Given the description of an element on the screen output the (x, y) to click on. 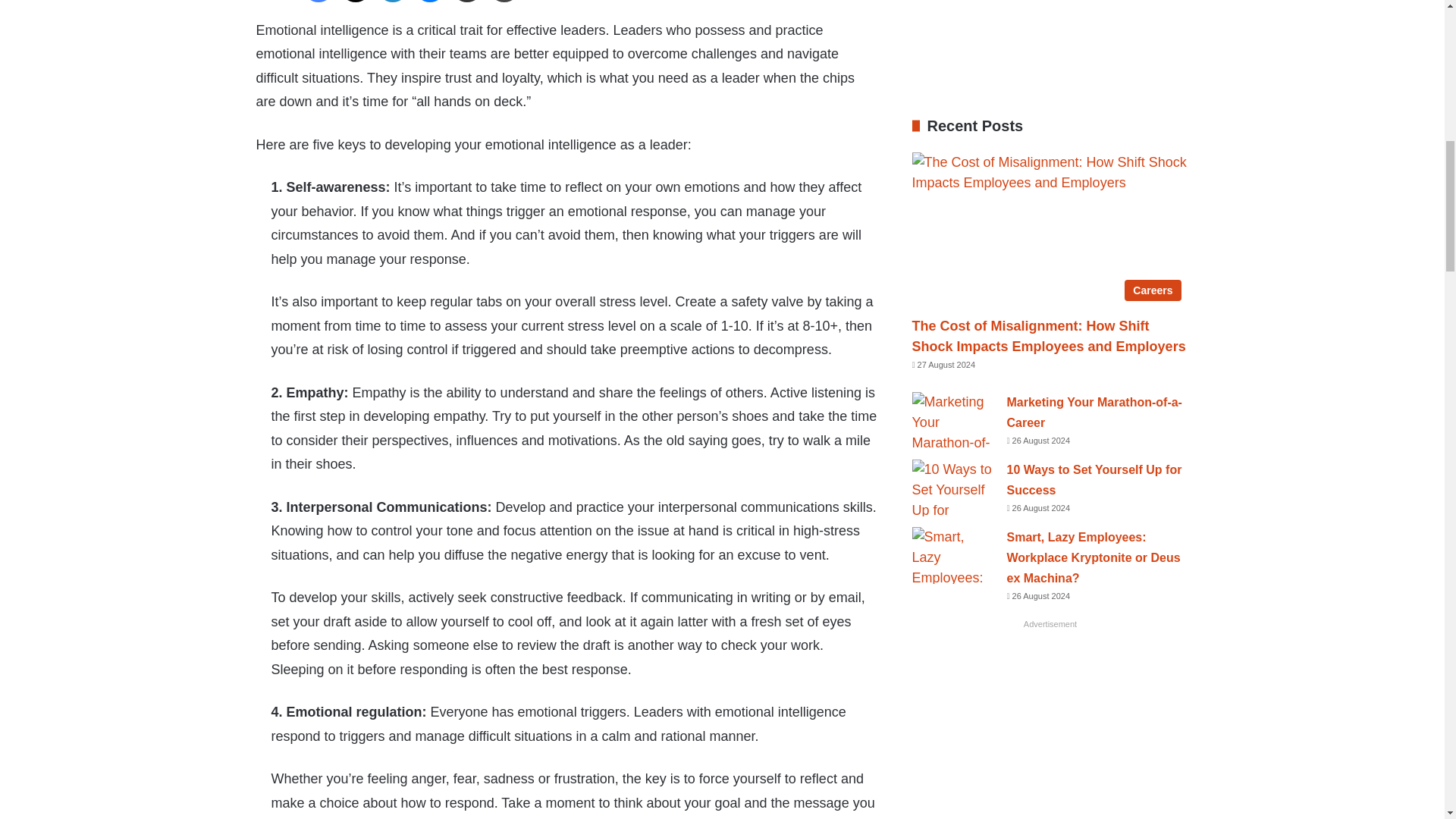
X (355, 1)
Print (504, 1)
LinkedIn (392, 1)
Messenger (429, 1)
Share via Email (466, 1)
Facebook (317, 1)
